Given the description of an element on the screen output the (x, y) to click on. 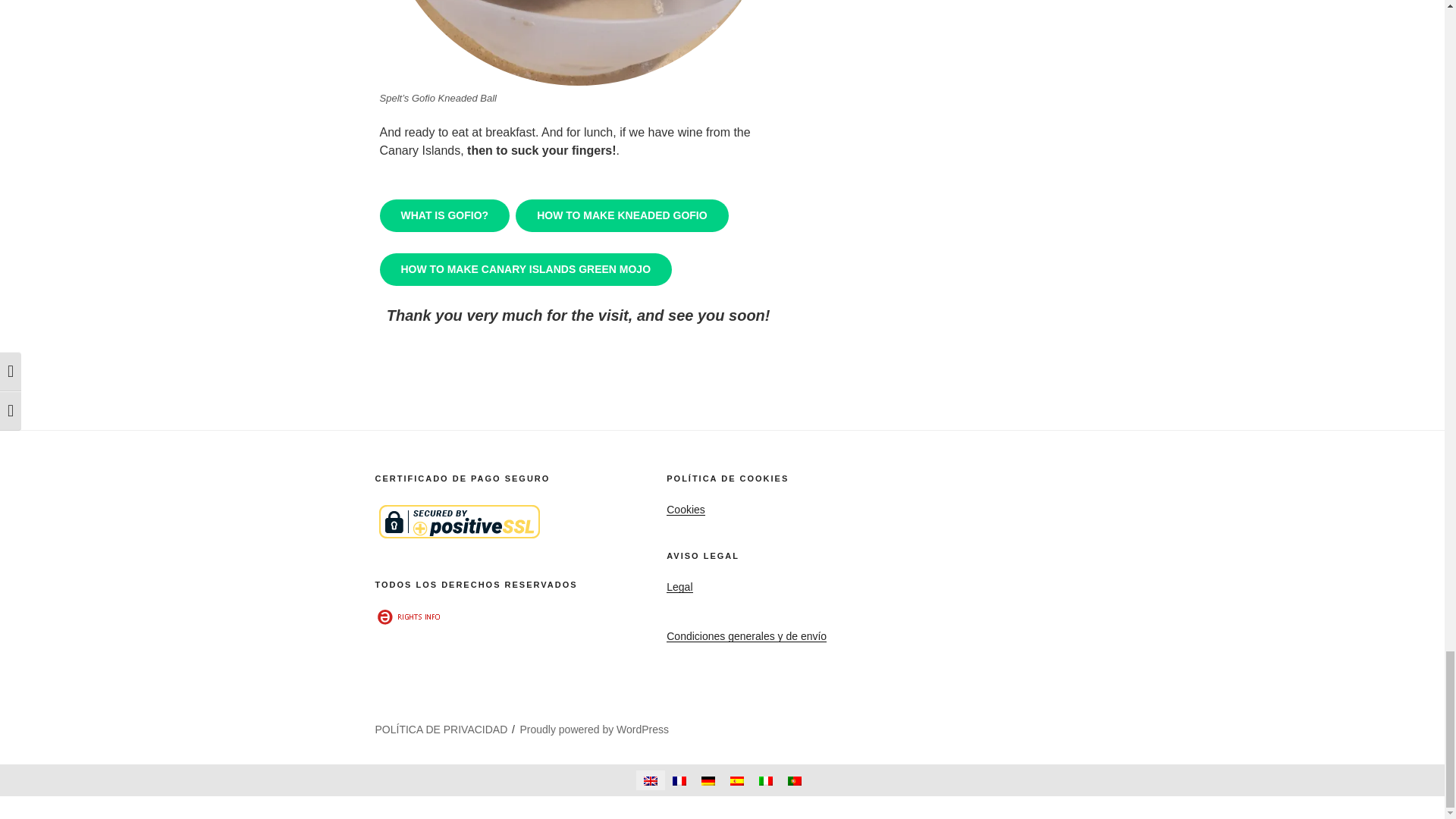
HOW TO MAKE KNEADED GOFIO (622, 215)
HOW TO MAKE CANARY ISLANDS GREEN MOJO (524, 269)
WHAT IS GOFIO? (443, 215)
